Given the description of an element on the screen output the (x, y) to click on. 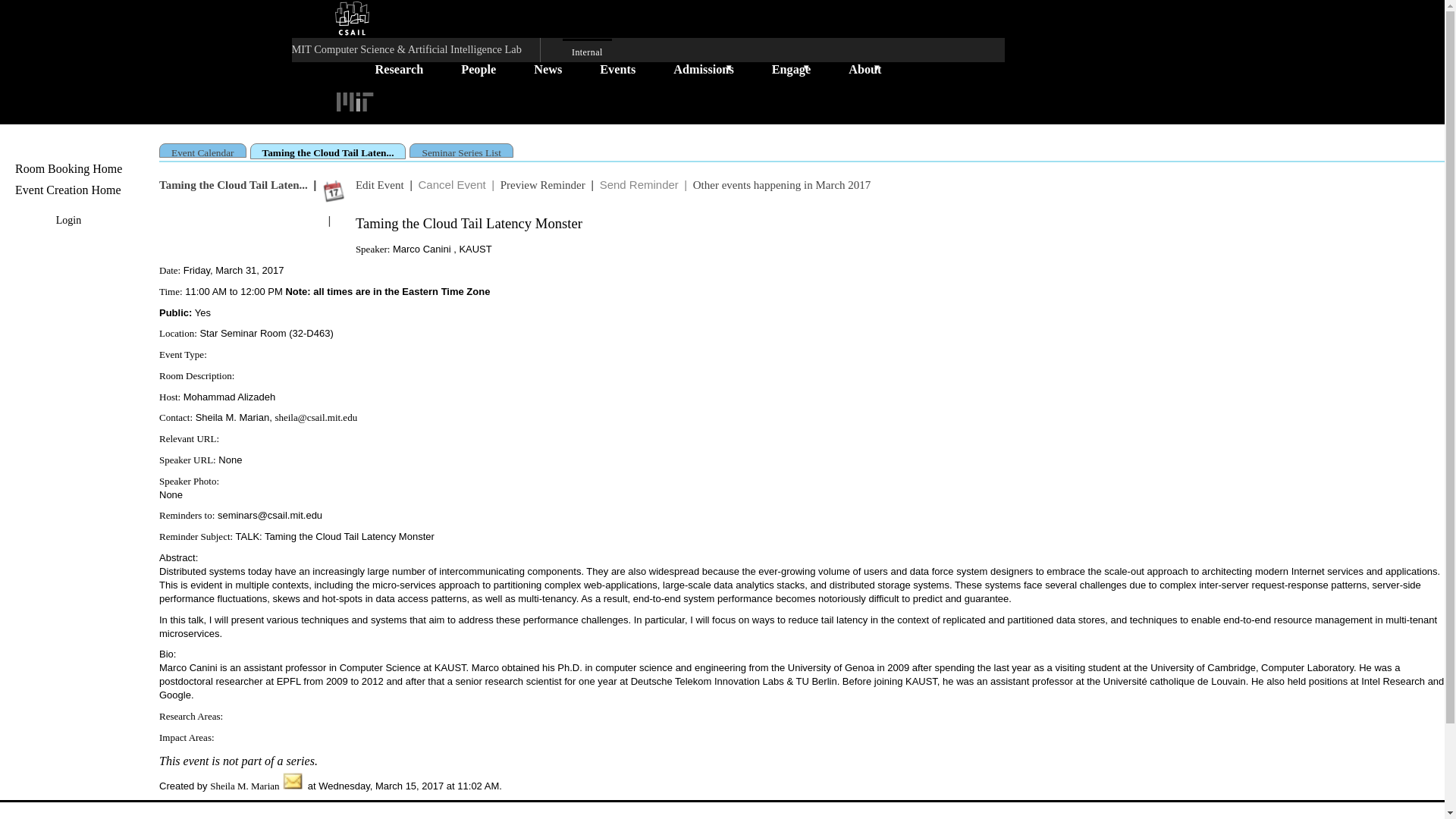
Email Sheila M. Marian (293, 785)
Admissions (702, 68)
Internal (586, 50)
CSAIL Logo Created with Sketch. (351, 18)
Events (616, 68)
About (864, 68)
MIT LOGO Created with Sketch. (355, 100)
Research (398, 68)
MIT LOGO Created with Sketch. (355, 101)
People (478, 68)
